Given the description of an element on the screen output the (x, y) to click on. 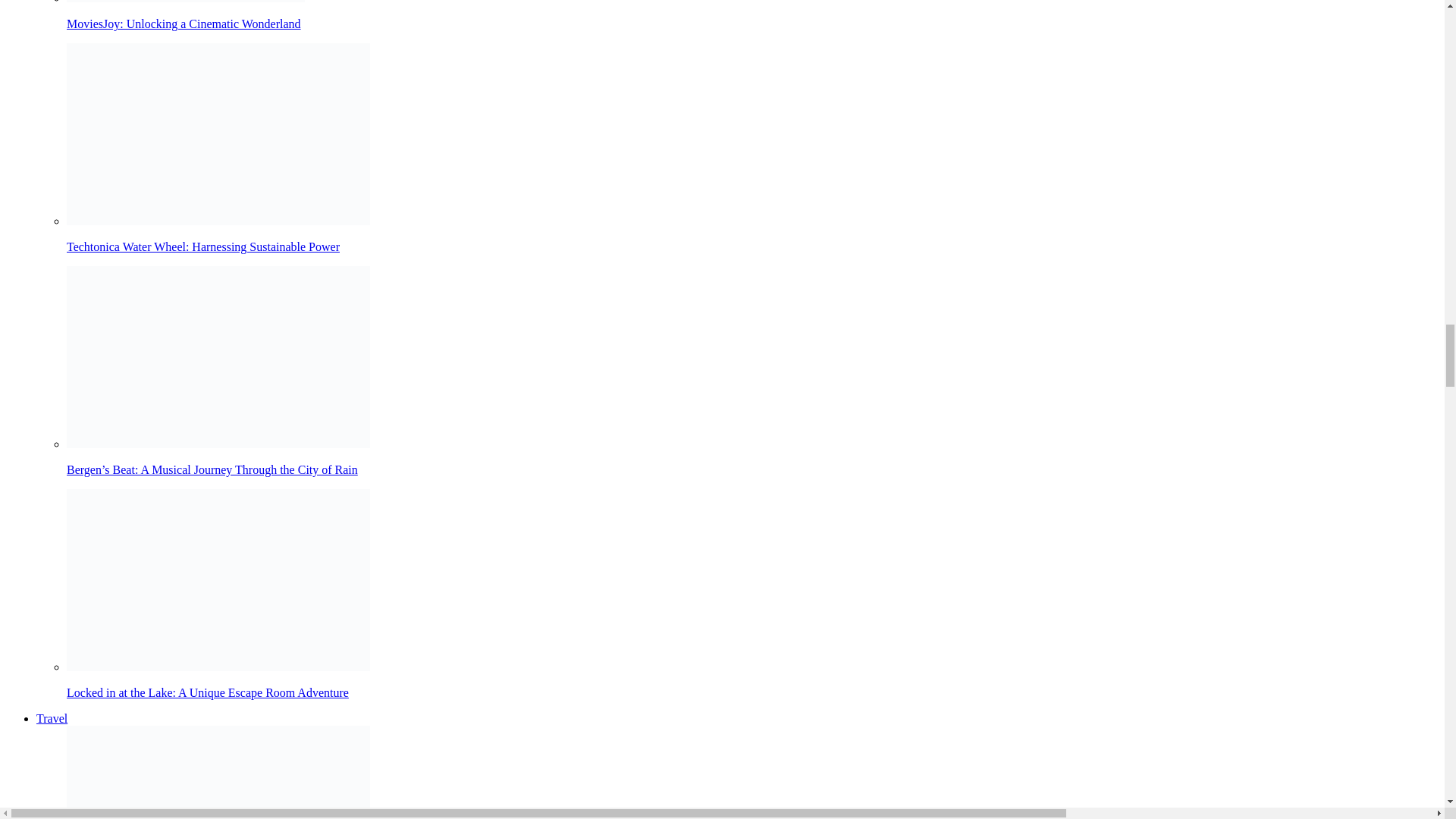
MoviesJoy: Unlocking a Cinematic Wonderland (752, 15)
